Given the description of an element on the screen output the (x, y) to click on. 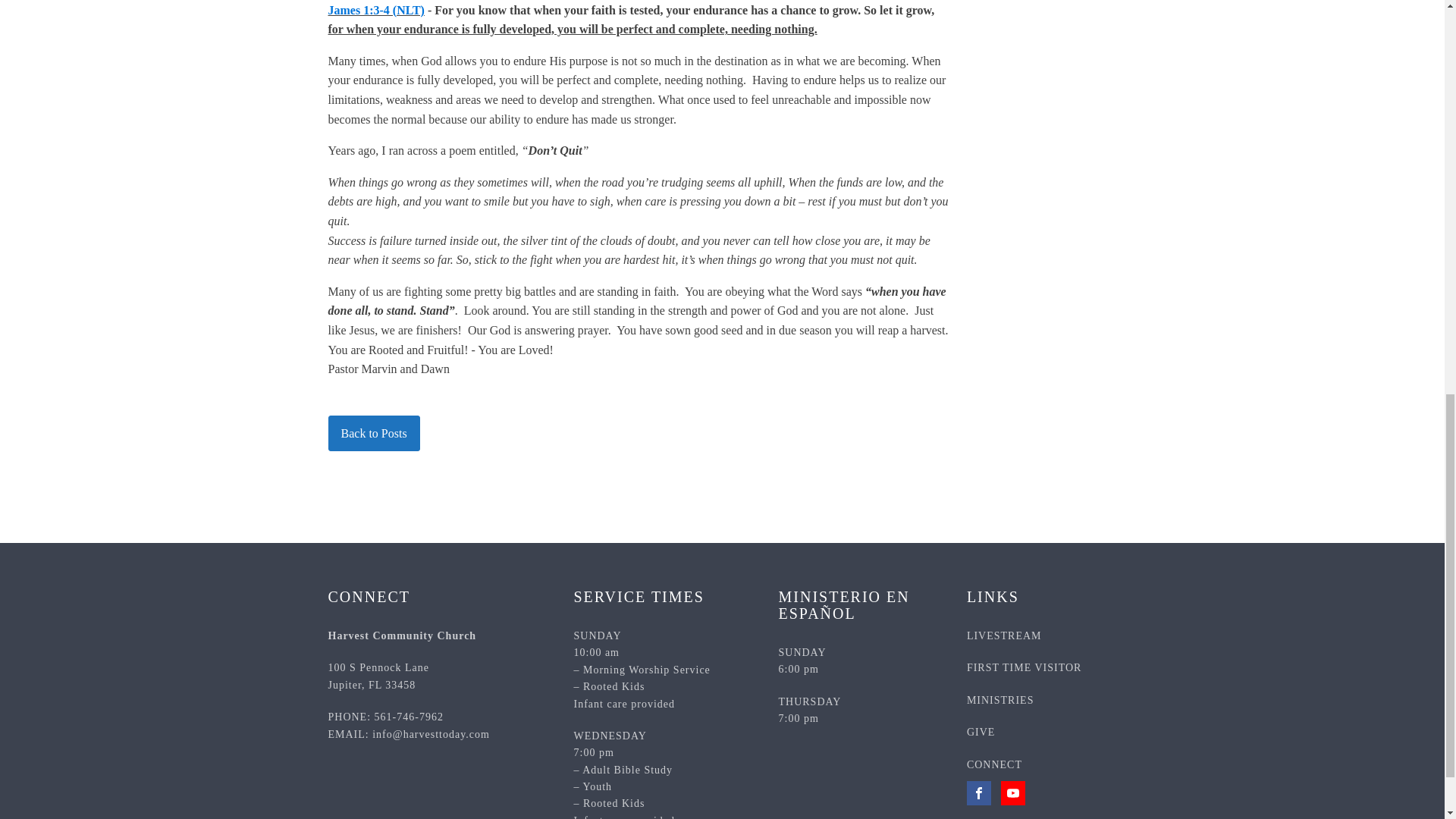
LIVESTREAM (1004, 635)
MINISTRIES (999, 700)
Harvest Community Church (377, 676)
CONNECT (401, 635)
Back to Posts (994, 765)
FIRST TIME VISITOR (373, 433)
